Given the description of an element on the screen output the (x, y) to click on. 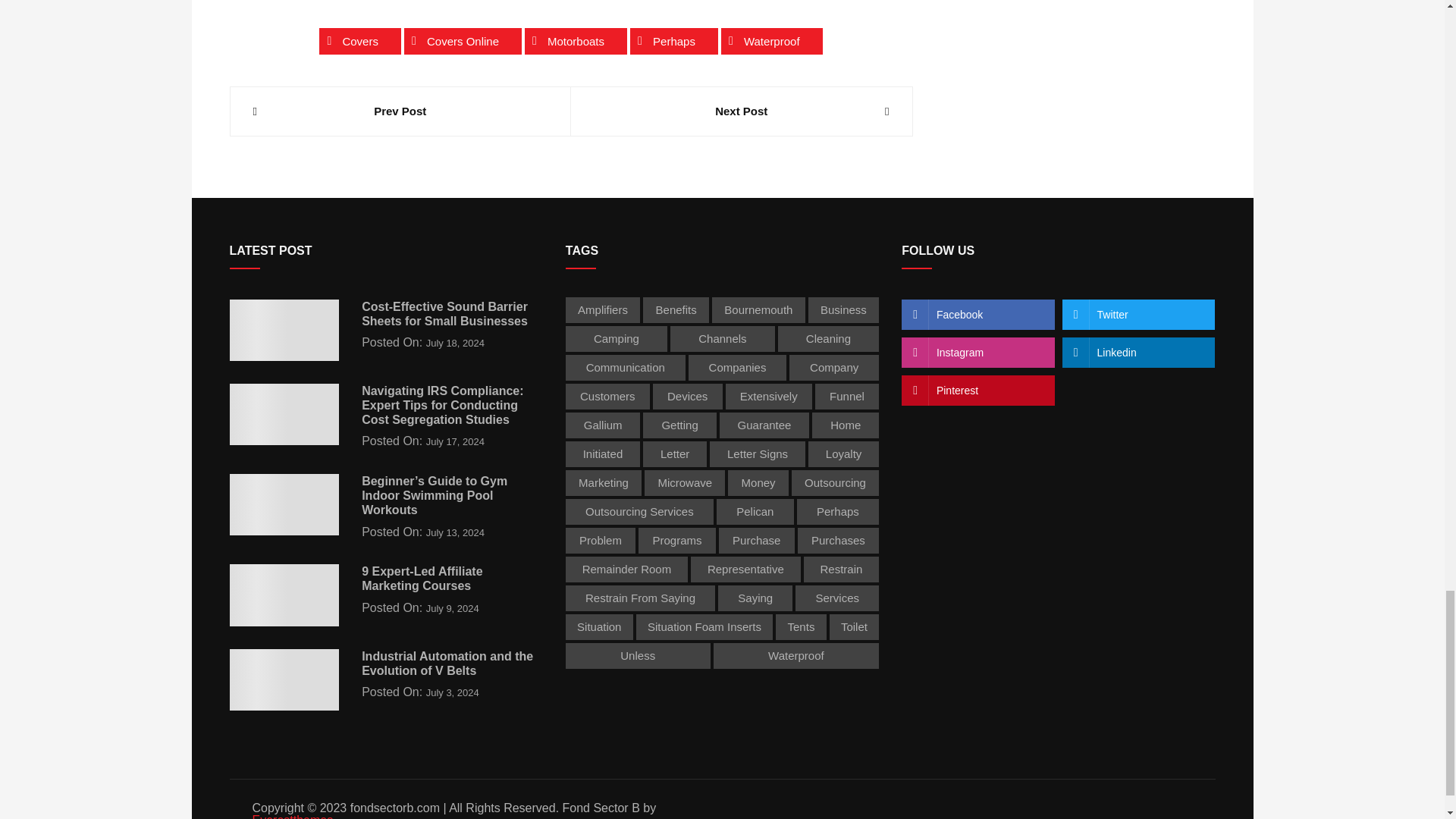
Next Post (741, 111)
Covers Online (462, 40)
Motorboats (575, 40)
Prev Post (400, 111)
Perhaps (673, 40)
Waterproof (771, 40)
Covers (359, 40)
